Given the description of an element on the screen output the (x, y) to click on. 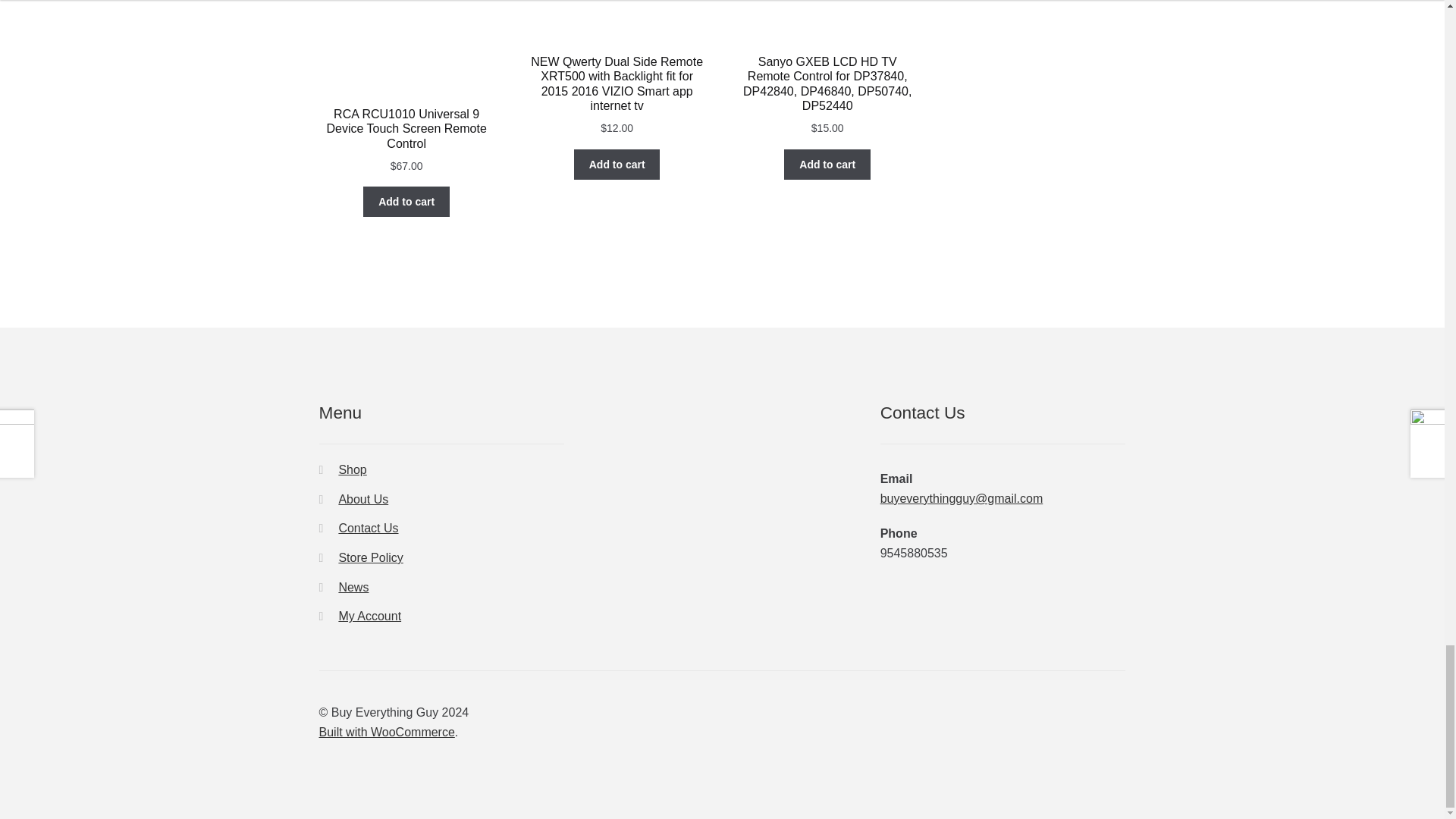
About Buy Everything Guy (362, 499)
WooCommerce - The Best eCommerce Platform for WordPress (386, 731)
Add to cart (405, 201)
